Given the description of an element on the screen output the (x, y) to click on. 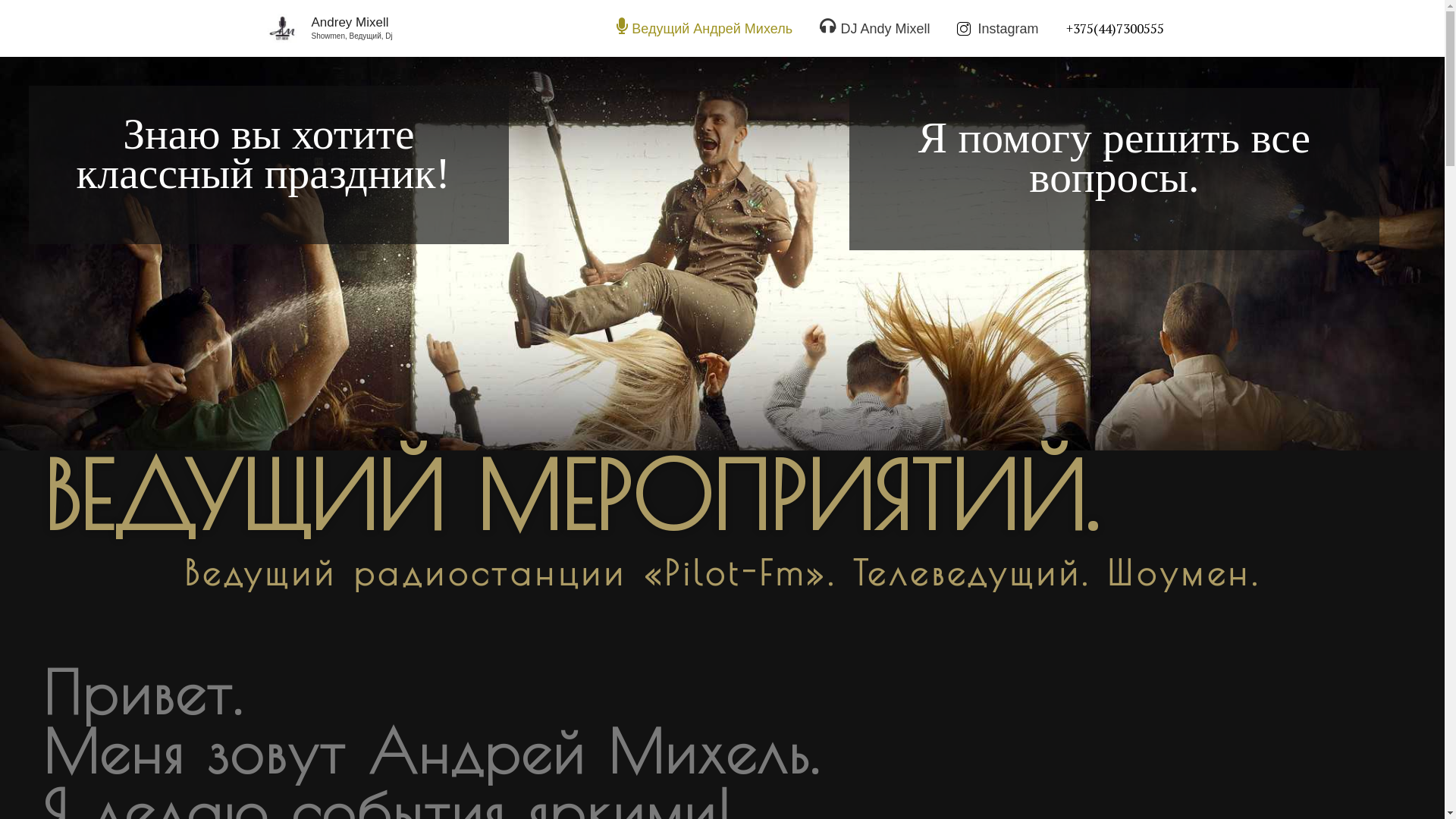
DJ Andy Mixell Element type: text (874, 28)
Instagram Element type: text (997, 28)
+375(44)7300555 Element type: text (1115, 27)
Andrey Mixell Element type: text (349, 22)
